Given the description of an element on the screen output the (x, y) to click on. 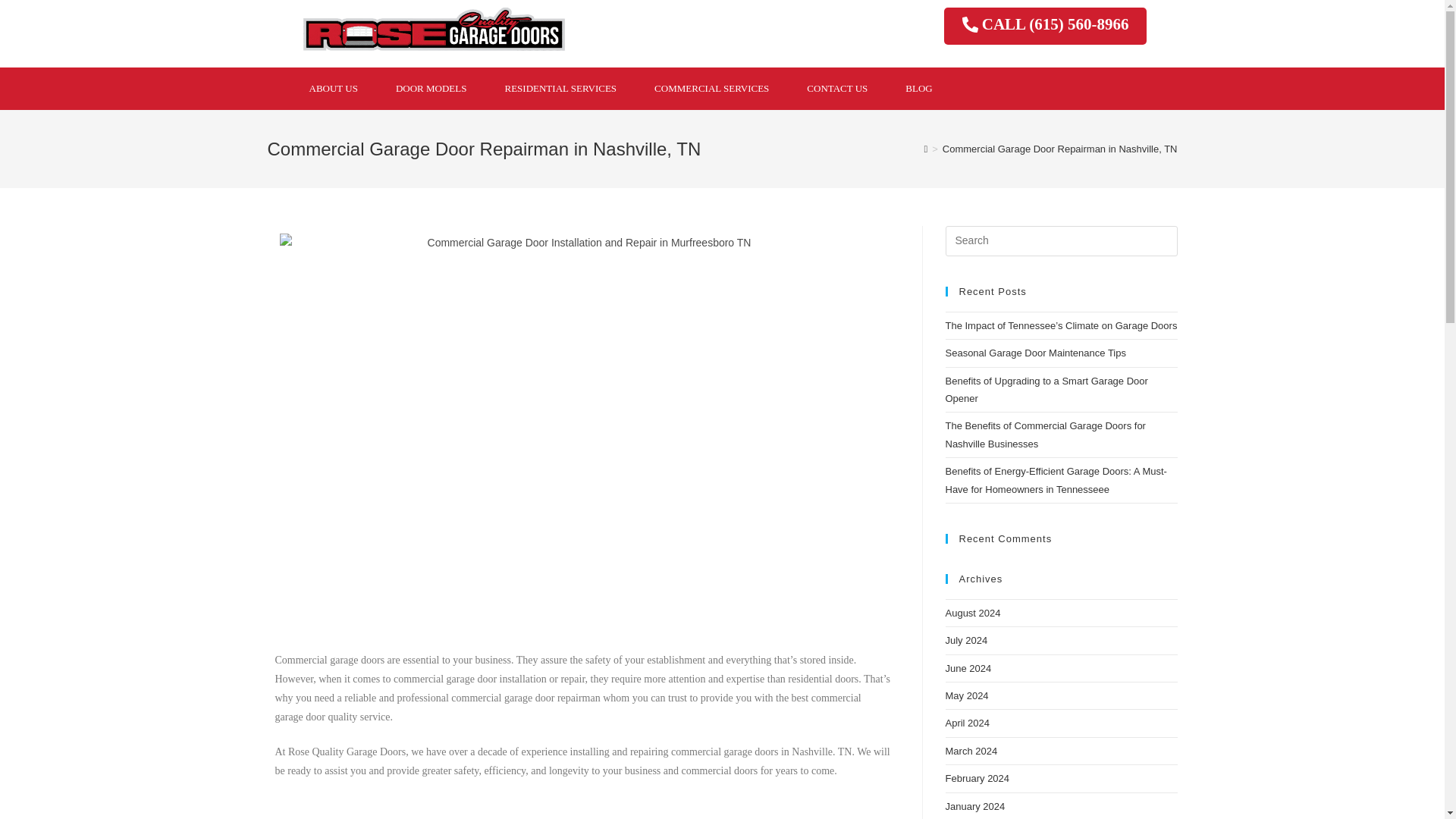
RESIDENTIAL SERVICES (559, 88)
BLOG (918, 88)
COMMERCIAL SERVICES (710, 88)
ABOUT US (332, 88)
CONTACT US (836, 88)
DOOR MODELS (431, 88)
